Given the description of an element on the screen output the (x, y) to click on. 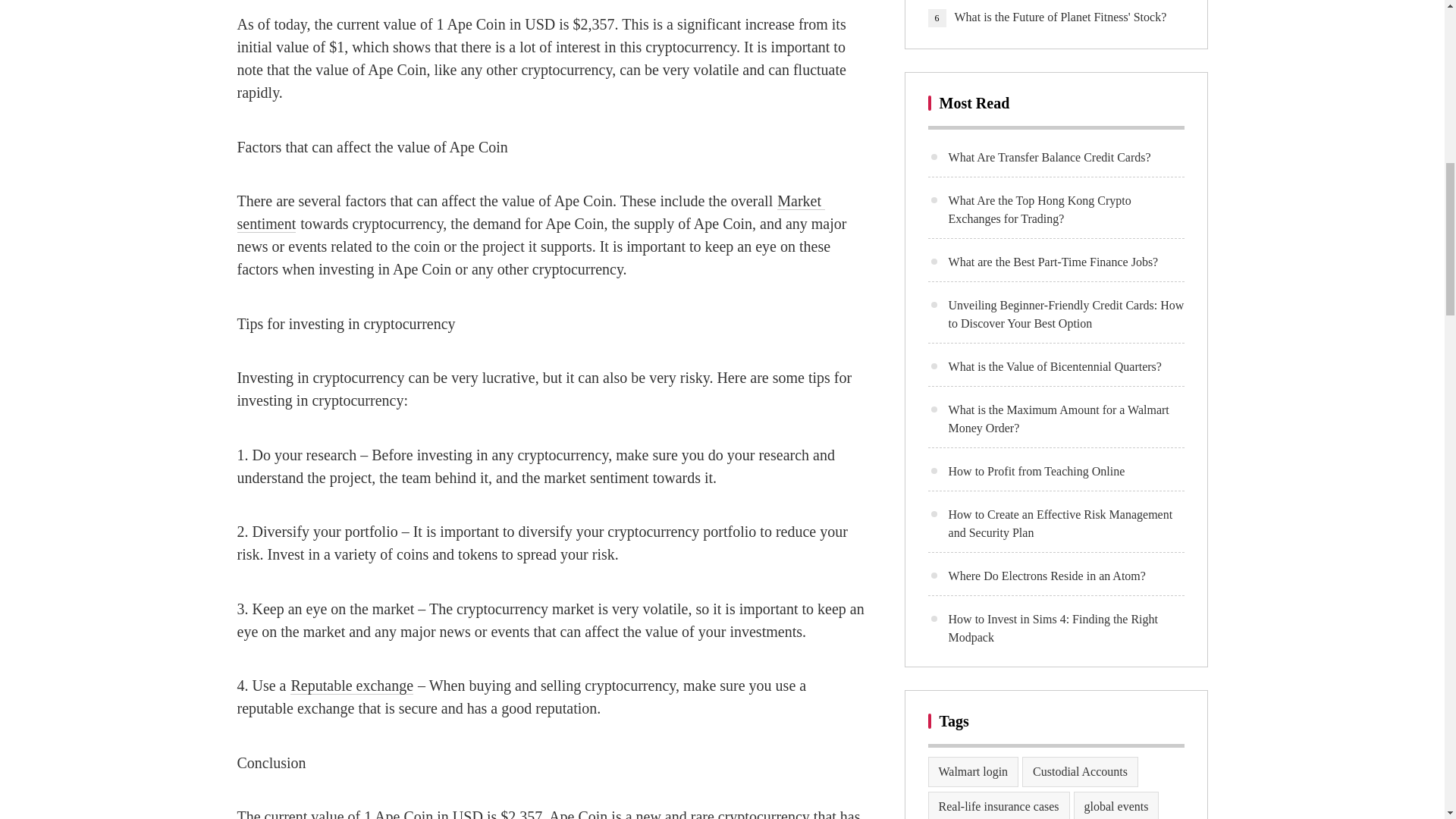
Reputable exchange (351, 685)
Market sentiment (529, 212)
Reputable exchange (351, 685)
Market sentiment (529, 212)
